Given the description of an element on the screen output the (x, y) to click on. 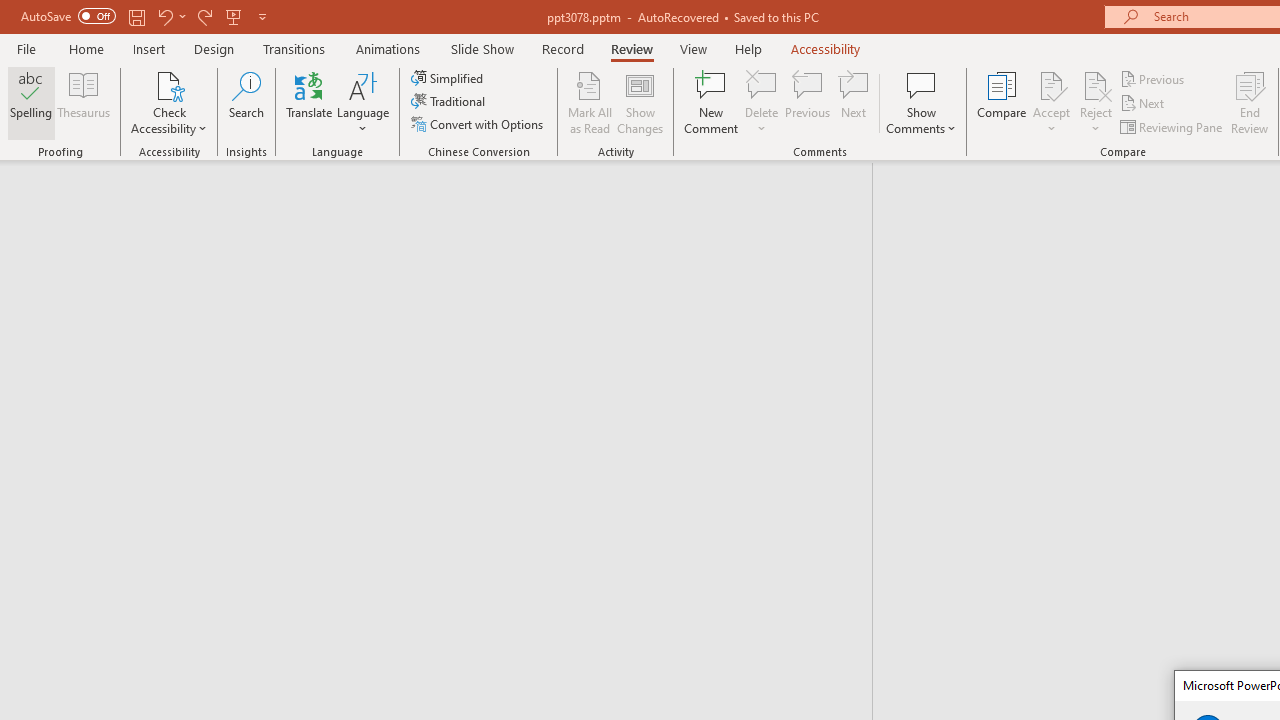
Accessibility (825, 48)
Quick Access Toolbar (145, 16)
New Comment (711, 102)
End Review (1249, 102)
Language (363, 102)
Translate (309, 102)
Insert (149, 48)
Review (631, 48)
Accept (1051, 102)
Simplified (449, 78)
Delete (762, 102)
Mark All as Read (589, 102)
Check Accessibility (169, 84)
Convert with Options... (479, 124)
